Given the description of an element on the screen output the (x, y) to click on. 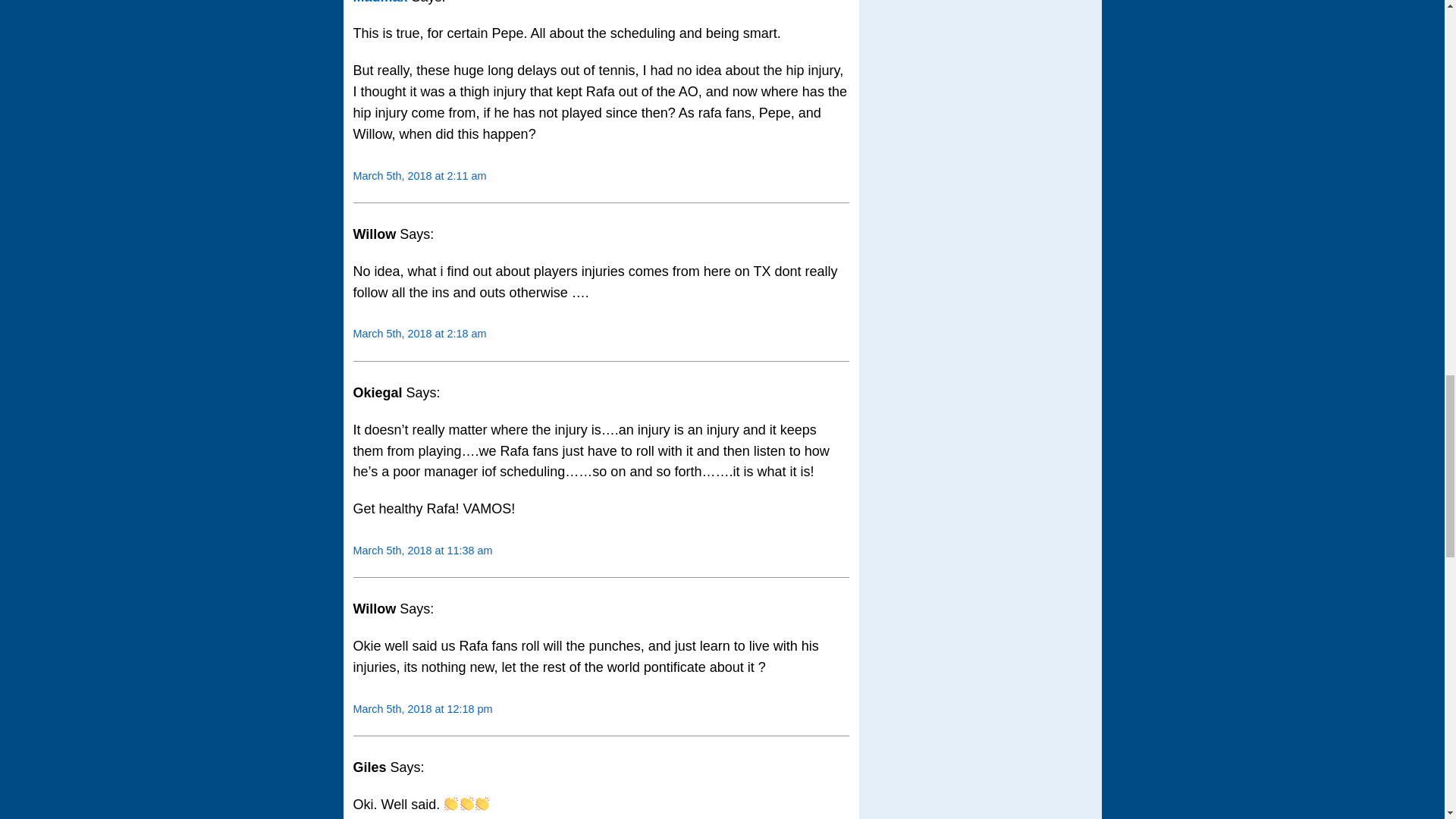
March 5th, 2018 at 11:38 am (423, 550)
March 5th, 2018 at 12:18 pm (423, 708)
March 5th, 2018 at 2:18 am (419, 333)
March 5th, 2018 at 2:11 am (419, 175)
Madmax (380, 2)
